Given the description of an element on the screen output the (x, y) to click on. 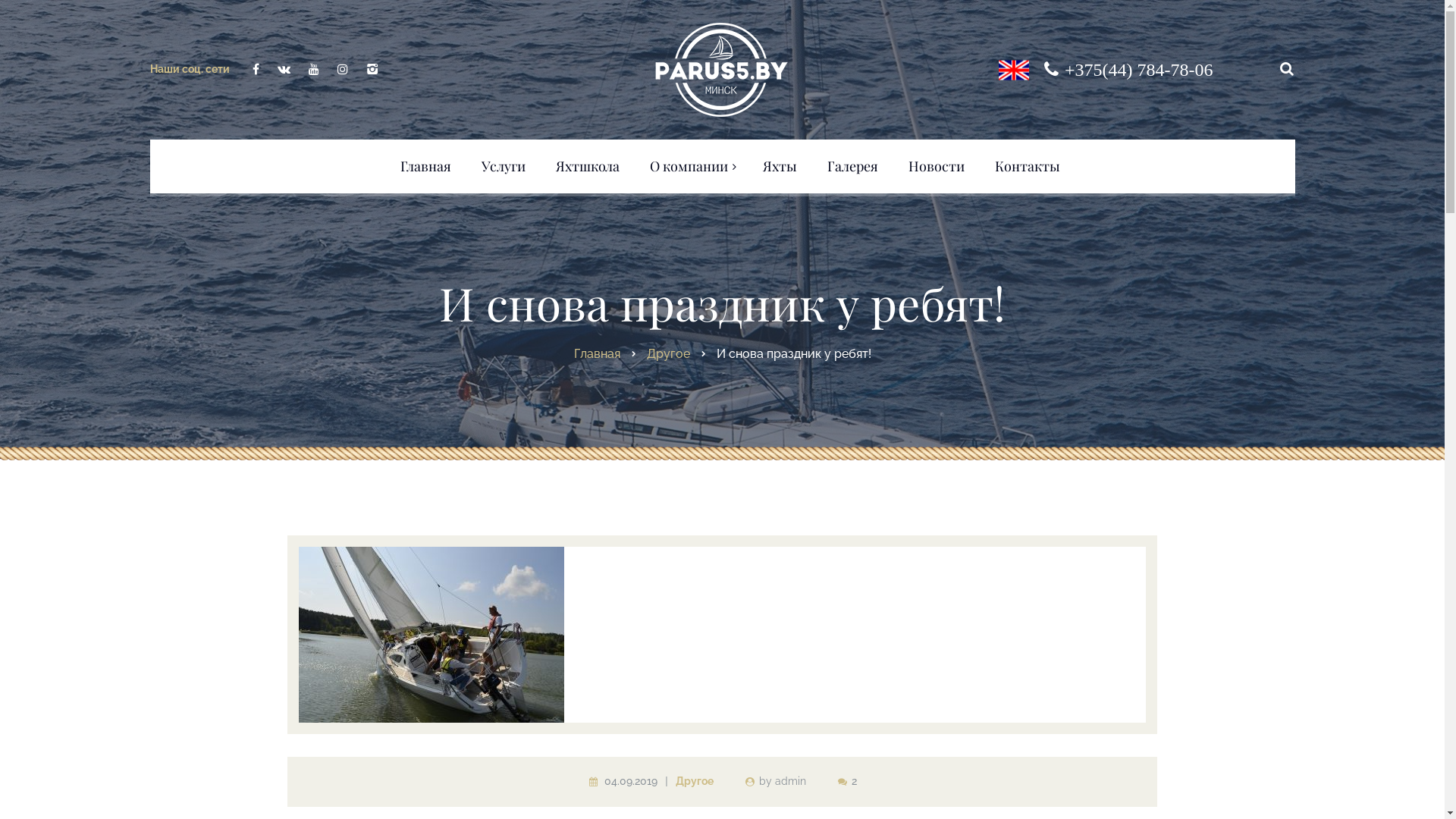
+375(44) 784-78-06 Element type: text (1138, 68)
